Given the description of an element on the screen output the (x, y) to click on. 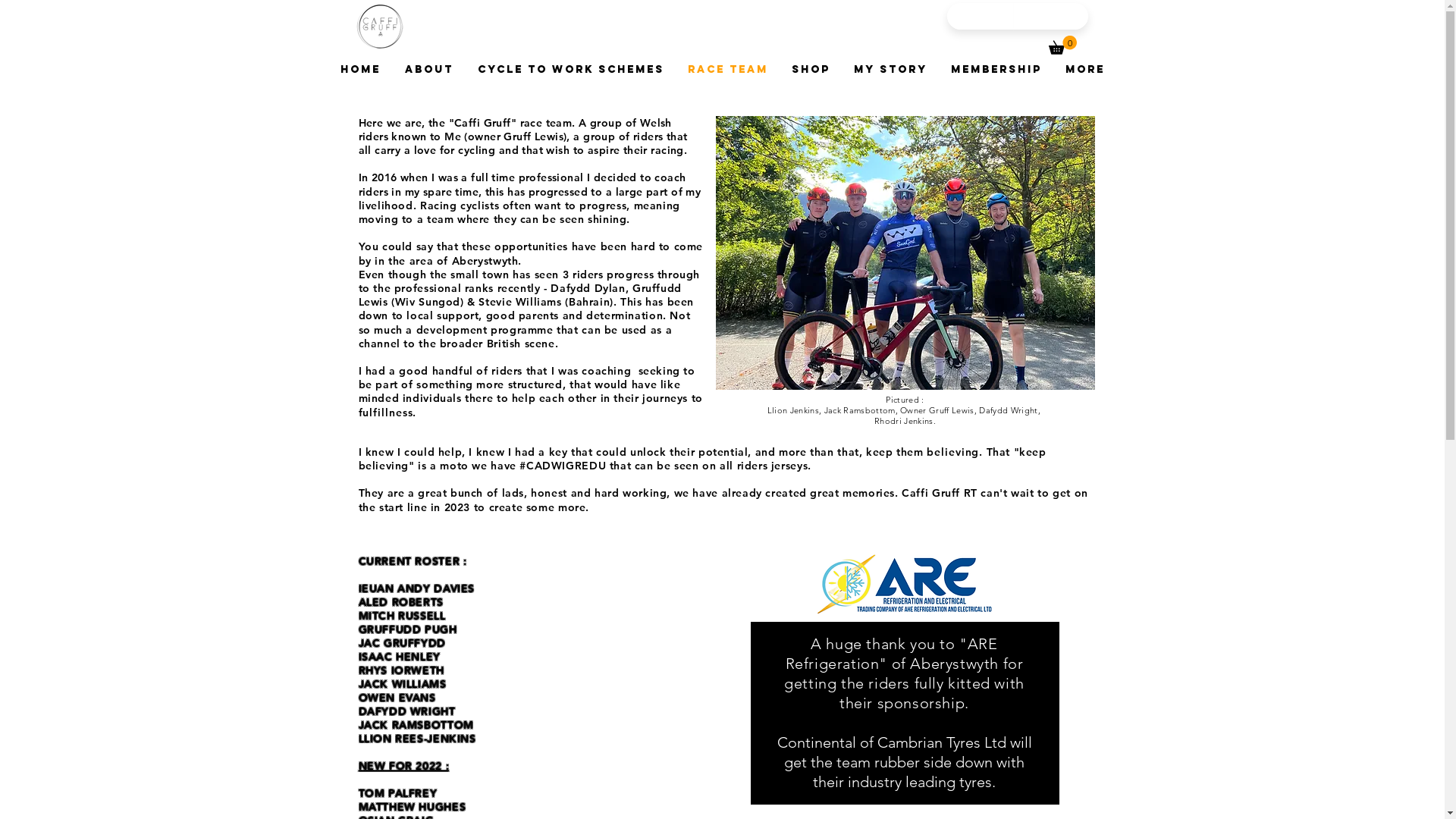
Shop Element type: text (810, 69)
Race Team Element type: text (728, 69)
My Story Element type: text (889, 69)
Cycle to work schemes Element type: text (570, 69)
Membership Element type: text (995, 69)
Home Element type: text (359, 69)
About Element type: text (428, 69)
0 Element type: text (1062, 44)
